Given the description of an element on the screen output the (x, y) to click on. 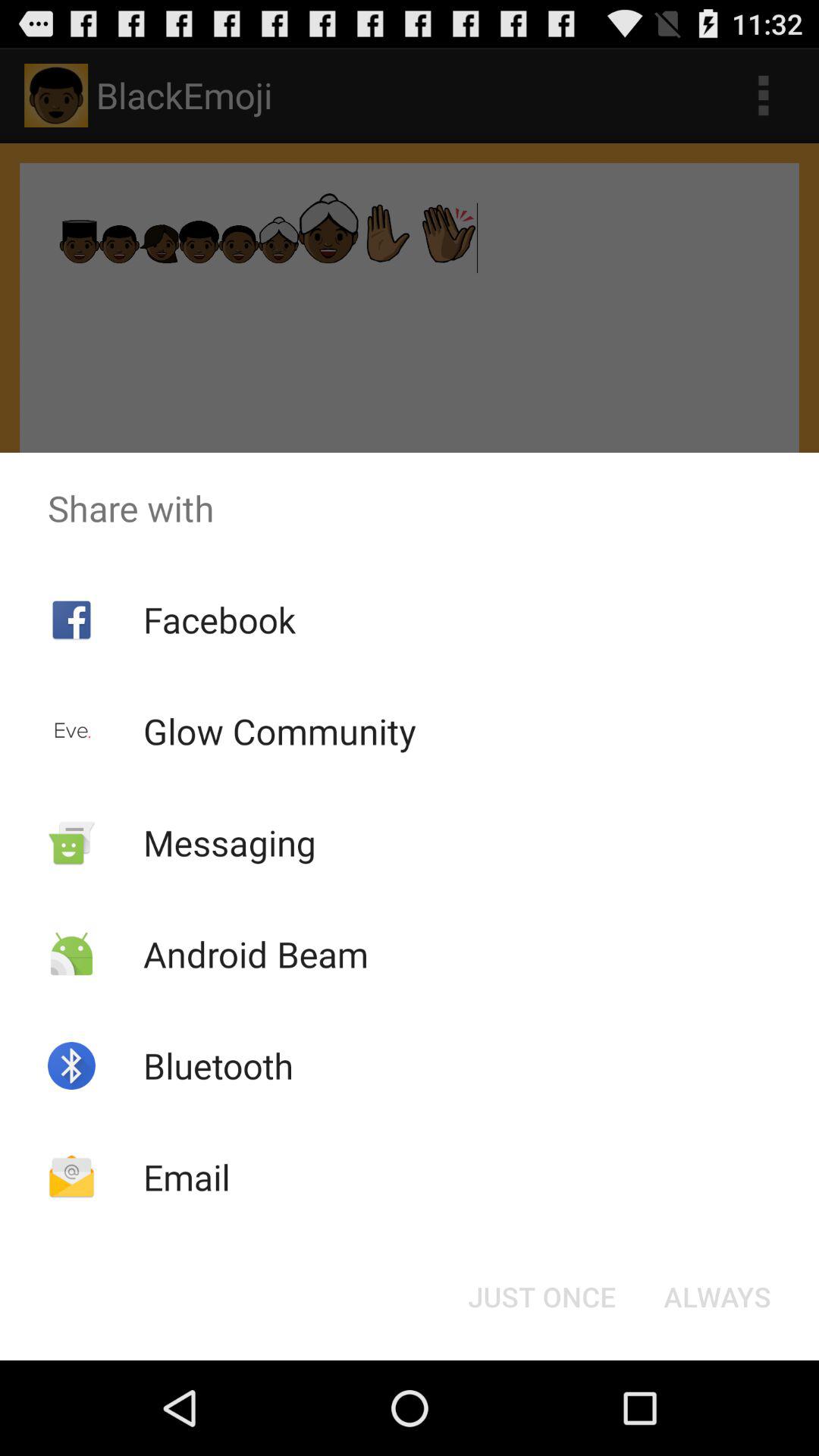
choose the app below glow community (229, 842)
